Given the description of an element on the screen output the (x, y) to click on. 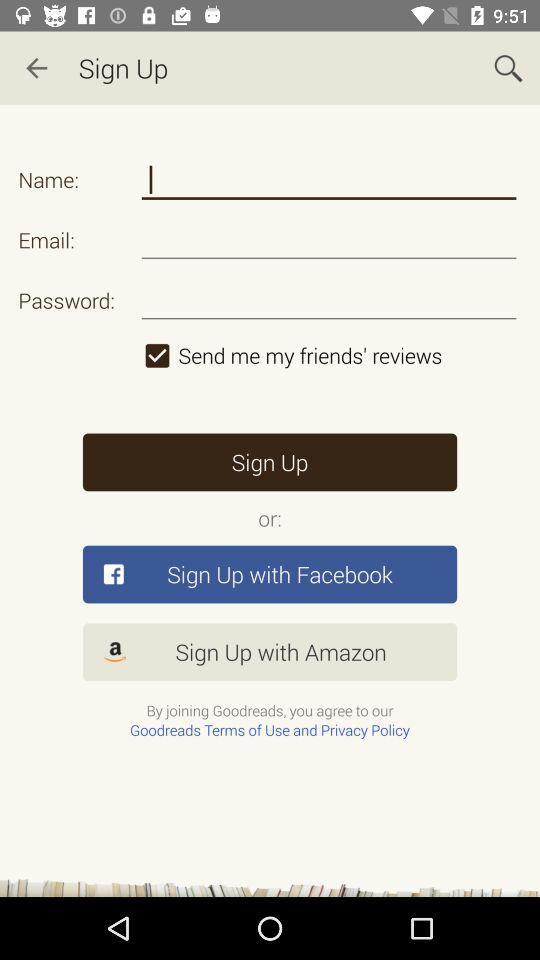
type password to sign up (328, 300)
